Given the description of an element on the screen output the (x, y) to click on. 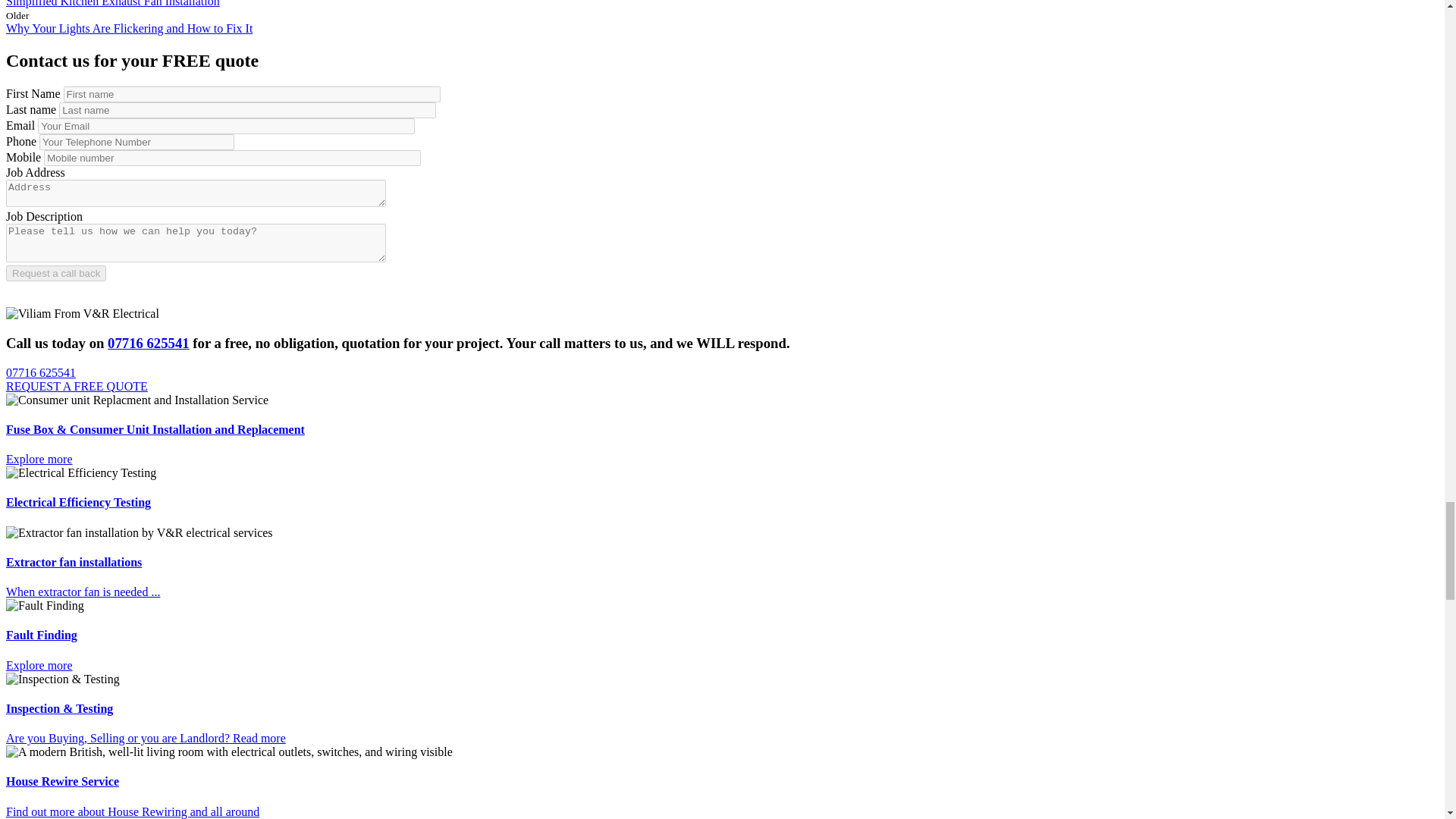
Consumer unit Replacment and Installation Service (136, 400)
Fault Finding (44, 605)
Extractor fan installation (139, 532)
Request a call back (55, 273)
Electrical Efficiency Testing (80, 472)
Property Rewiring Services (228, 752)
